Given the description of an element on the screen output the (x, y) to click on. 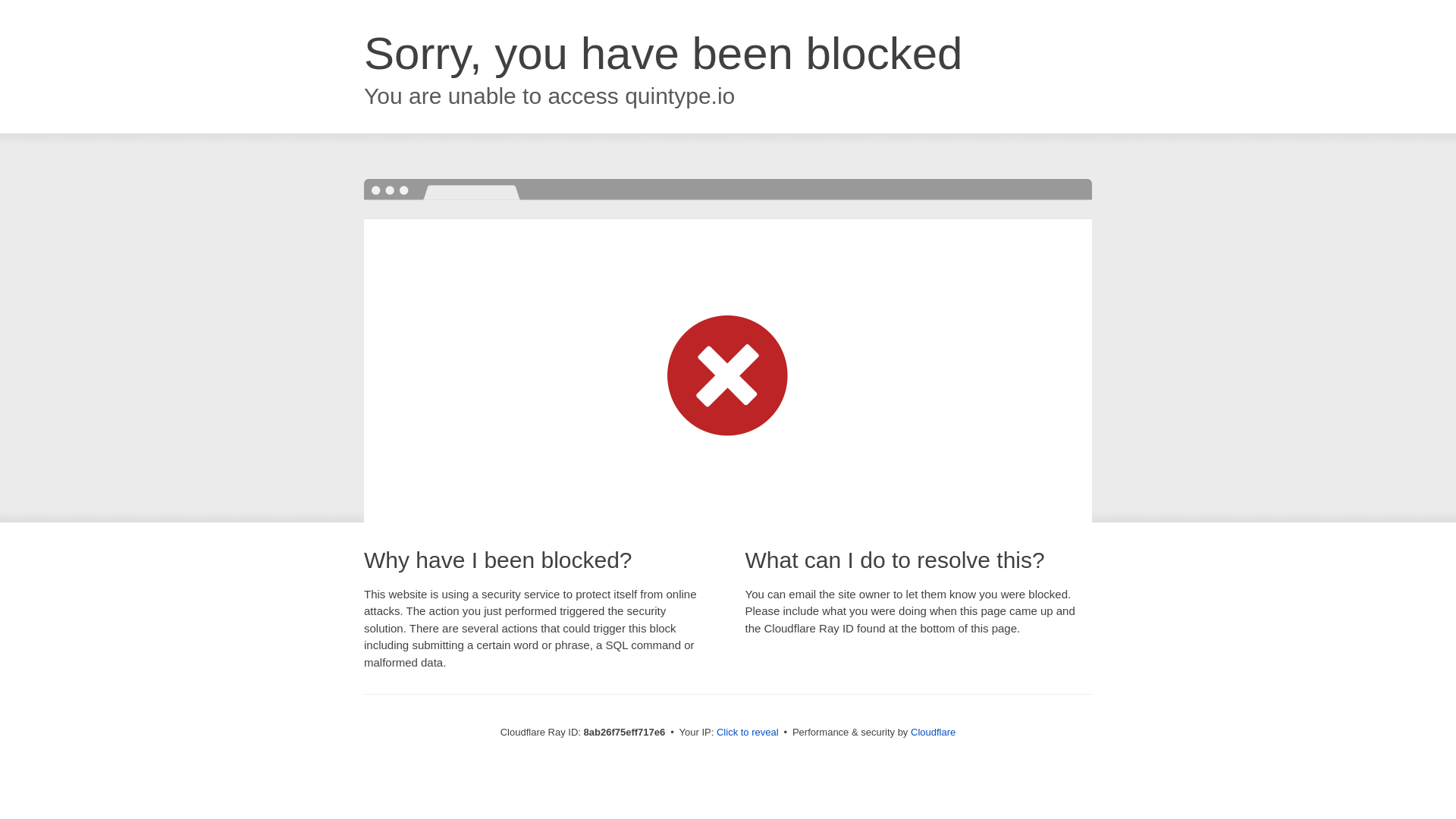
Cloudflare (933, 731)
Click to reveal (747, 732)
